Given the description of an element on the screen output the (x, y) to click on. 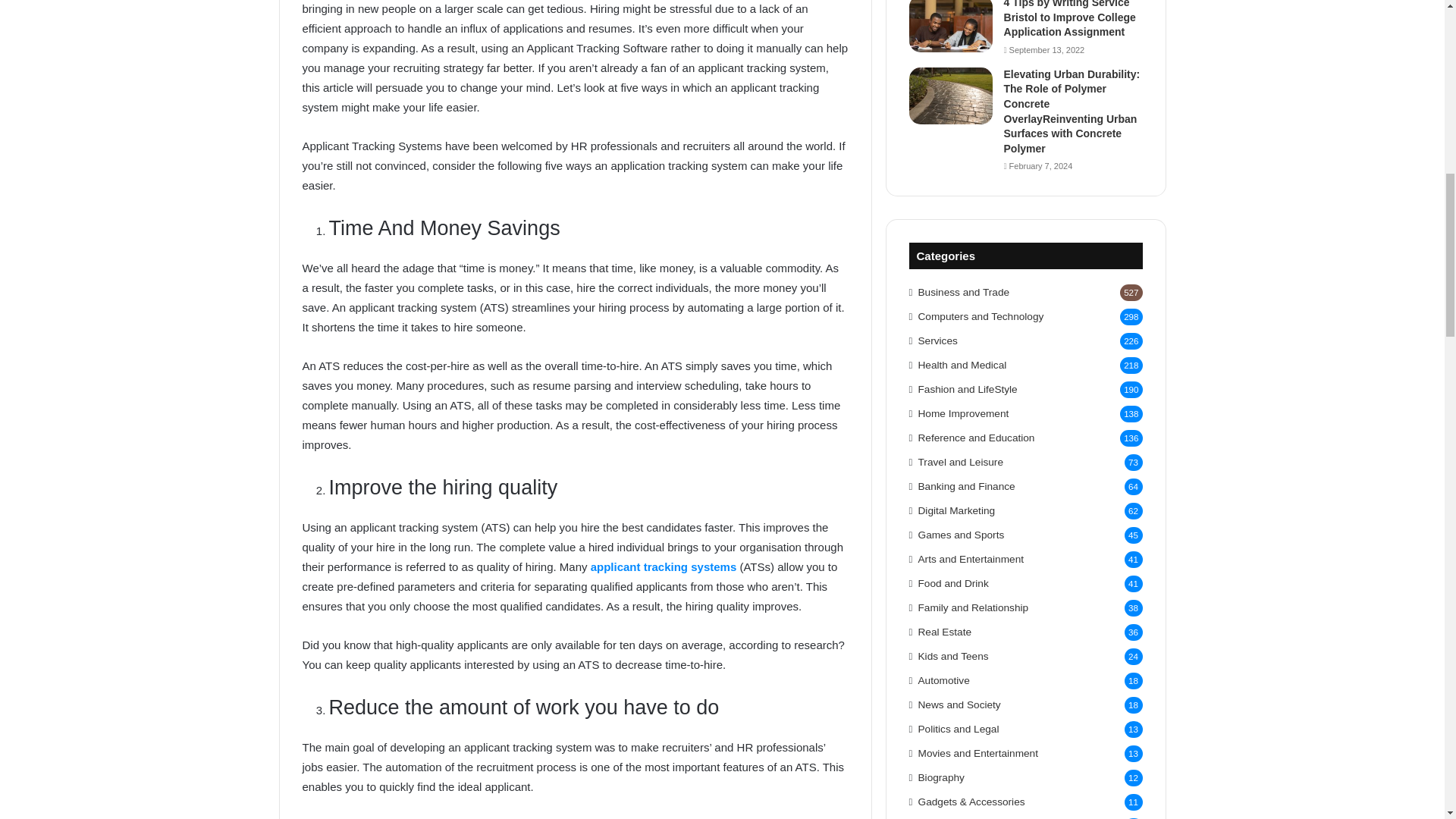
applicant tracking systems (663, 566)
